Given the description of an element on the screen output the (x, y) to click on. 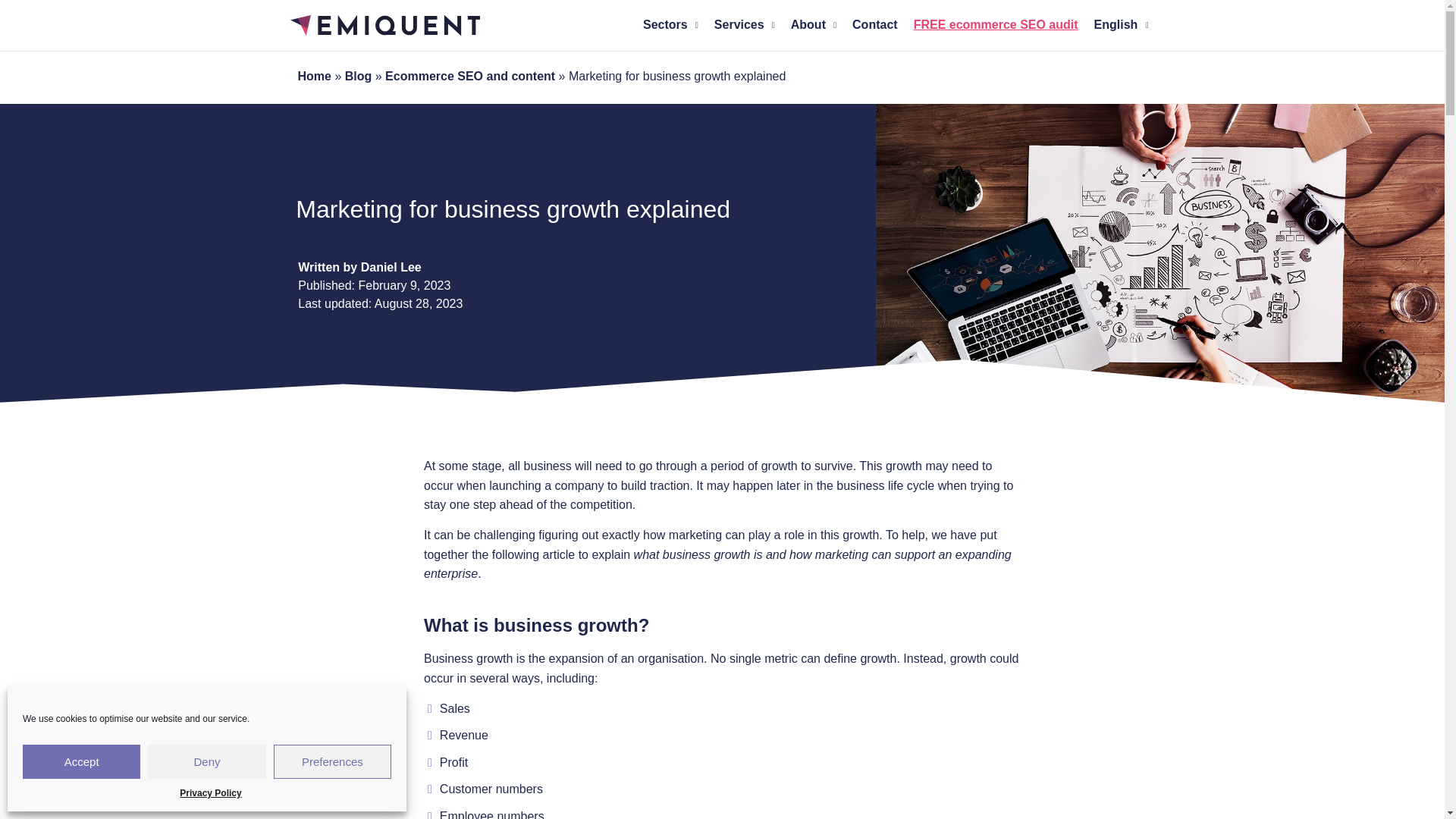
Accept (81, 761)
Contact (874, 24)
Deny (206, 761)
Preferences (332, 761)
FREE ecommerce SEO audit (995, 24)
Privacy Policy (210, 793)
English (1120, 24)
Sectors (670, 24)
Services (743, 24)
About (813, 24)
